Given the description of an element on the screen output the (x, y) to click on. 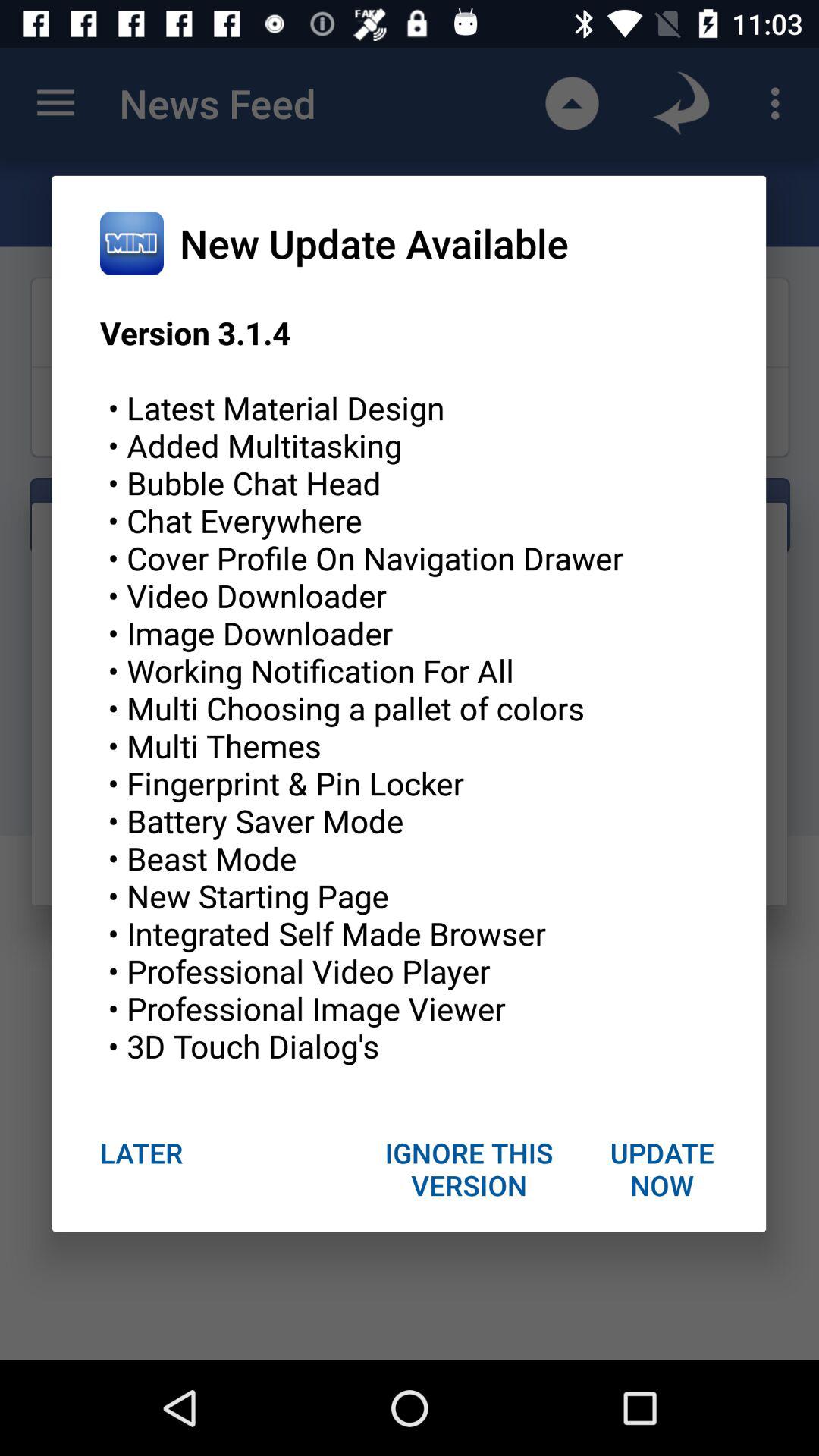
click the item at the bottom left corner (141, 1153)
